Given the description of an element on the screen output the (x, y) to click on. 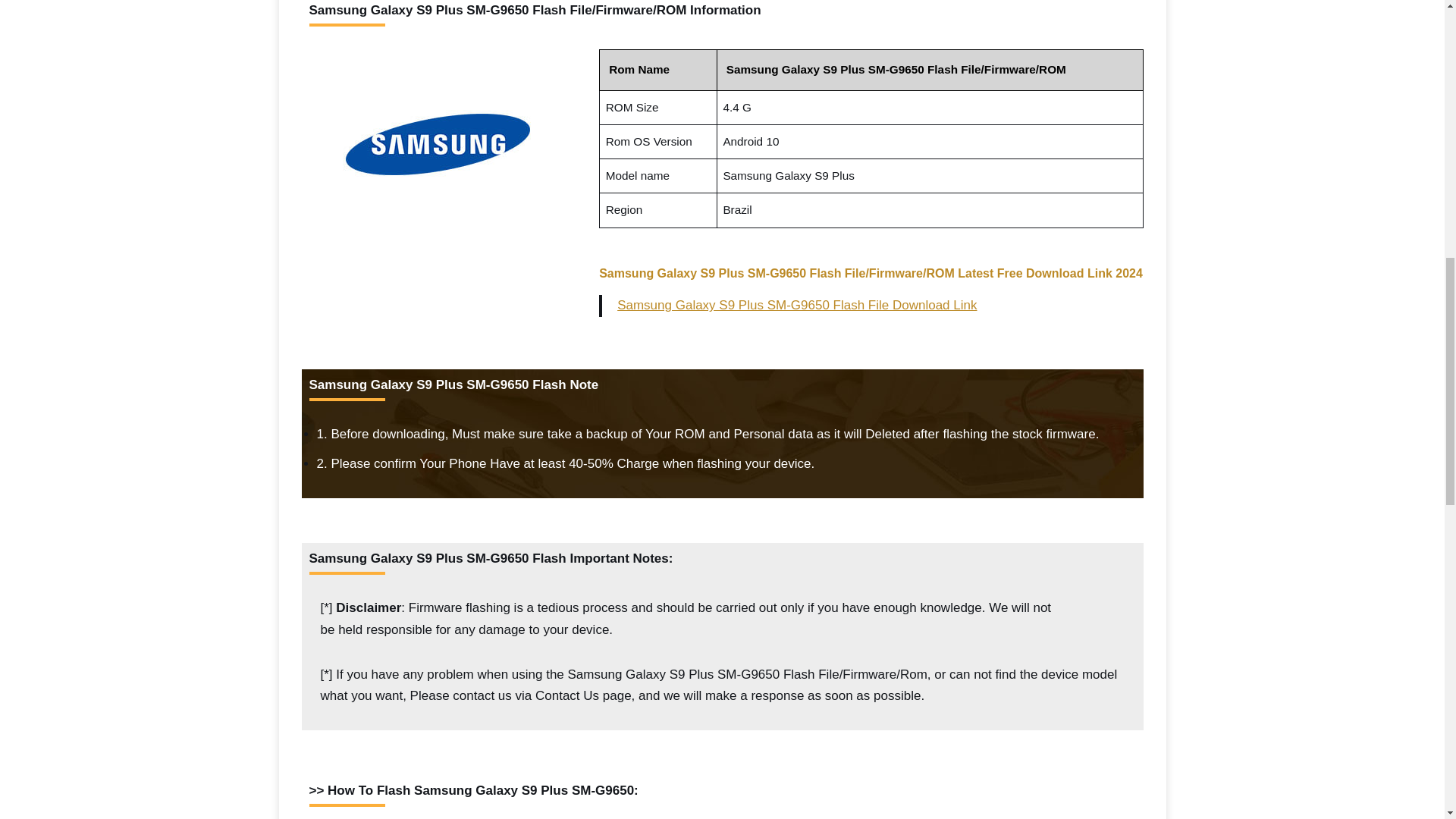
Samsung Galaxy S9 Plus SM-G9650 Flash File Download Link (796, 305)
